Given the description of an element on the screen output the (x, y) to click on. 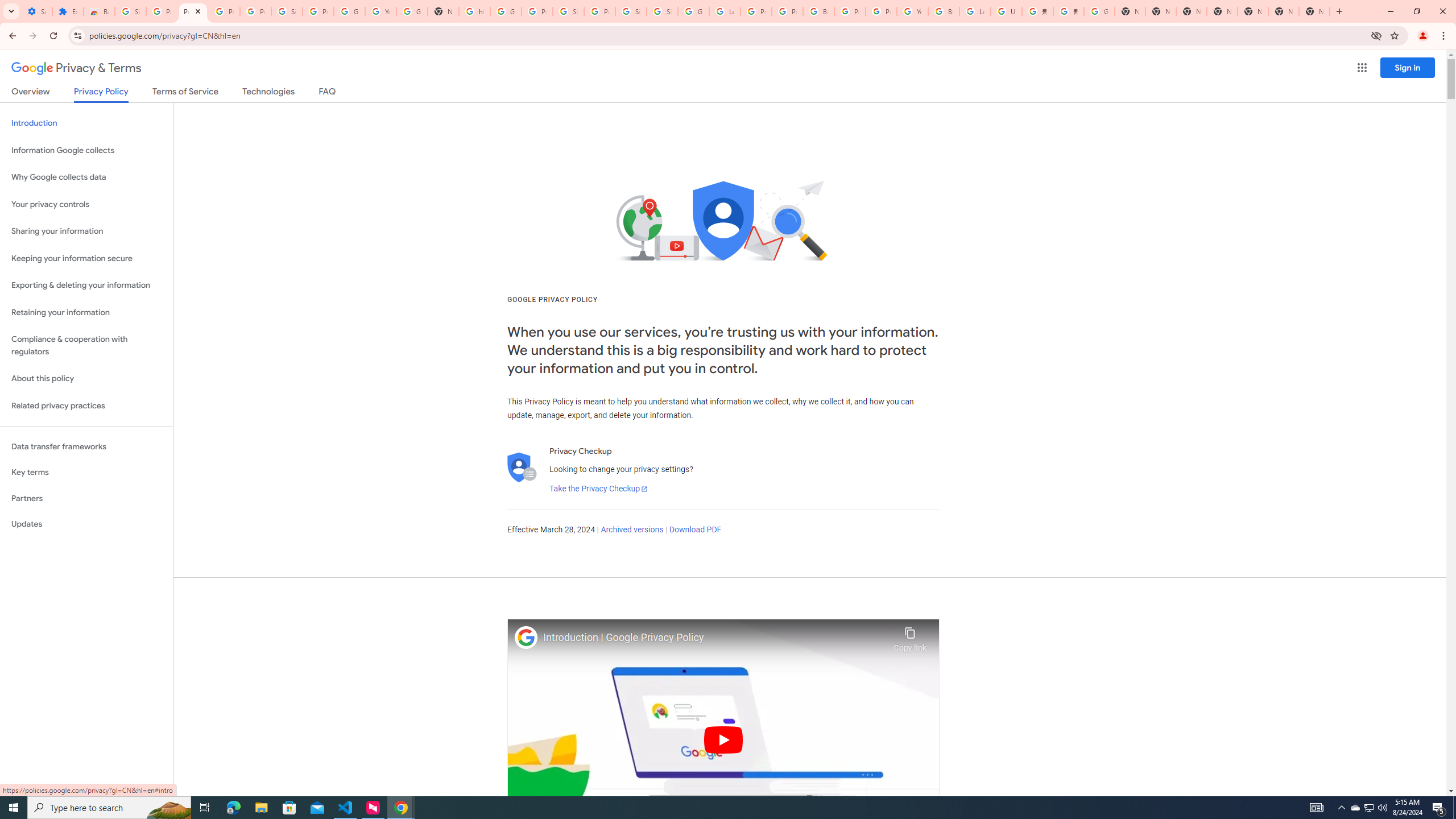
Privacy Help Center - Policies Help (756, 11)
Introduction (86, 122)
Reviews: Helix Fruit Jump Arcade Game (98, 11)
Sign in - Google Accounts (286, 11)
